Given the description of an element on the screen output the (x, y) to click on. 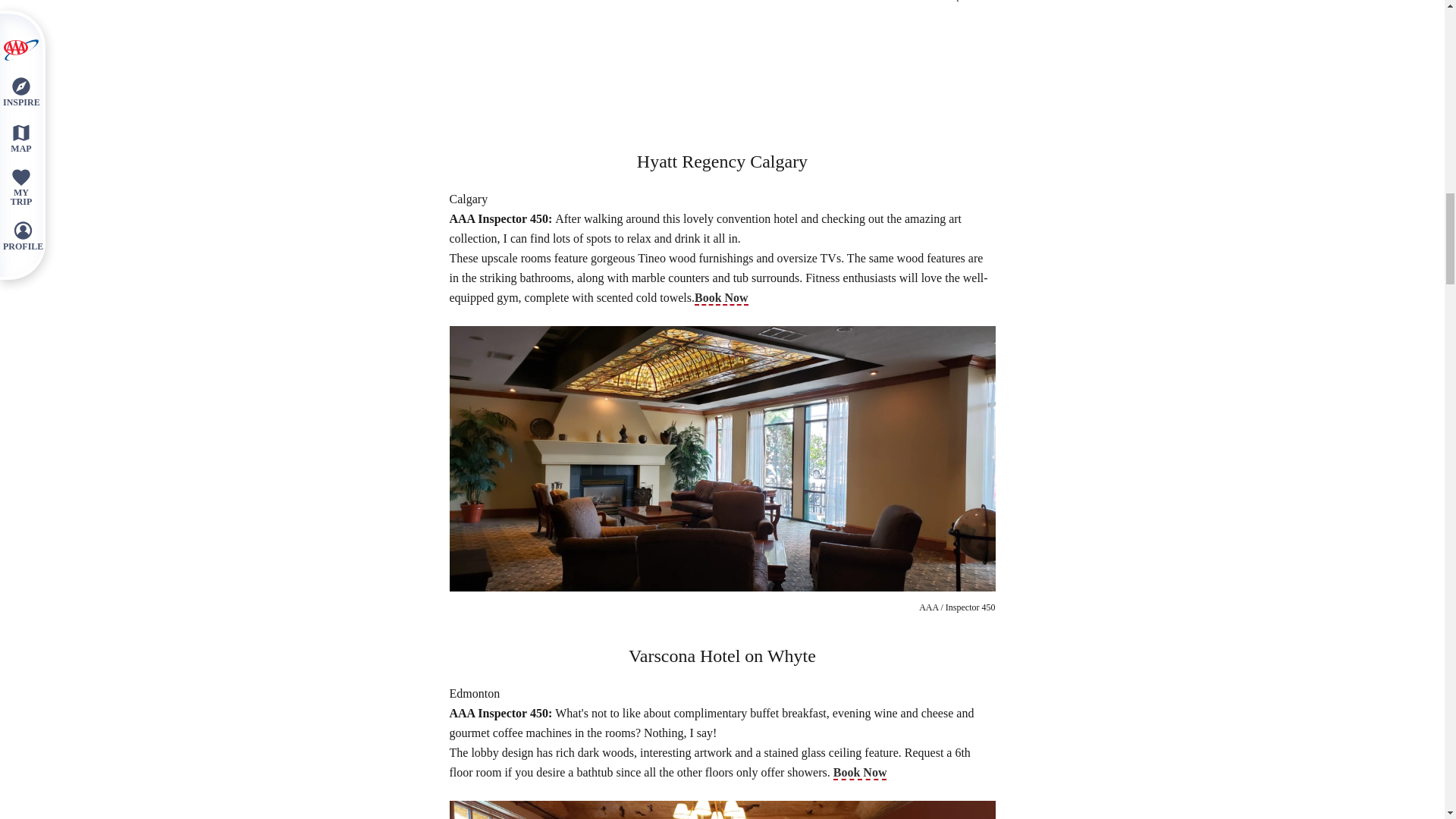
3rd party ad content (724, 74)
Book Now (859, 772)
Book Now (721, 298)
